Given the description of an element on the screen output the (x, y) to click on. 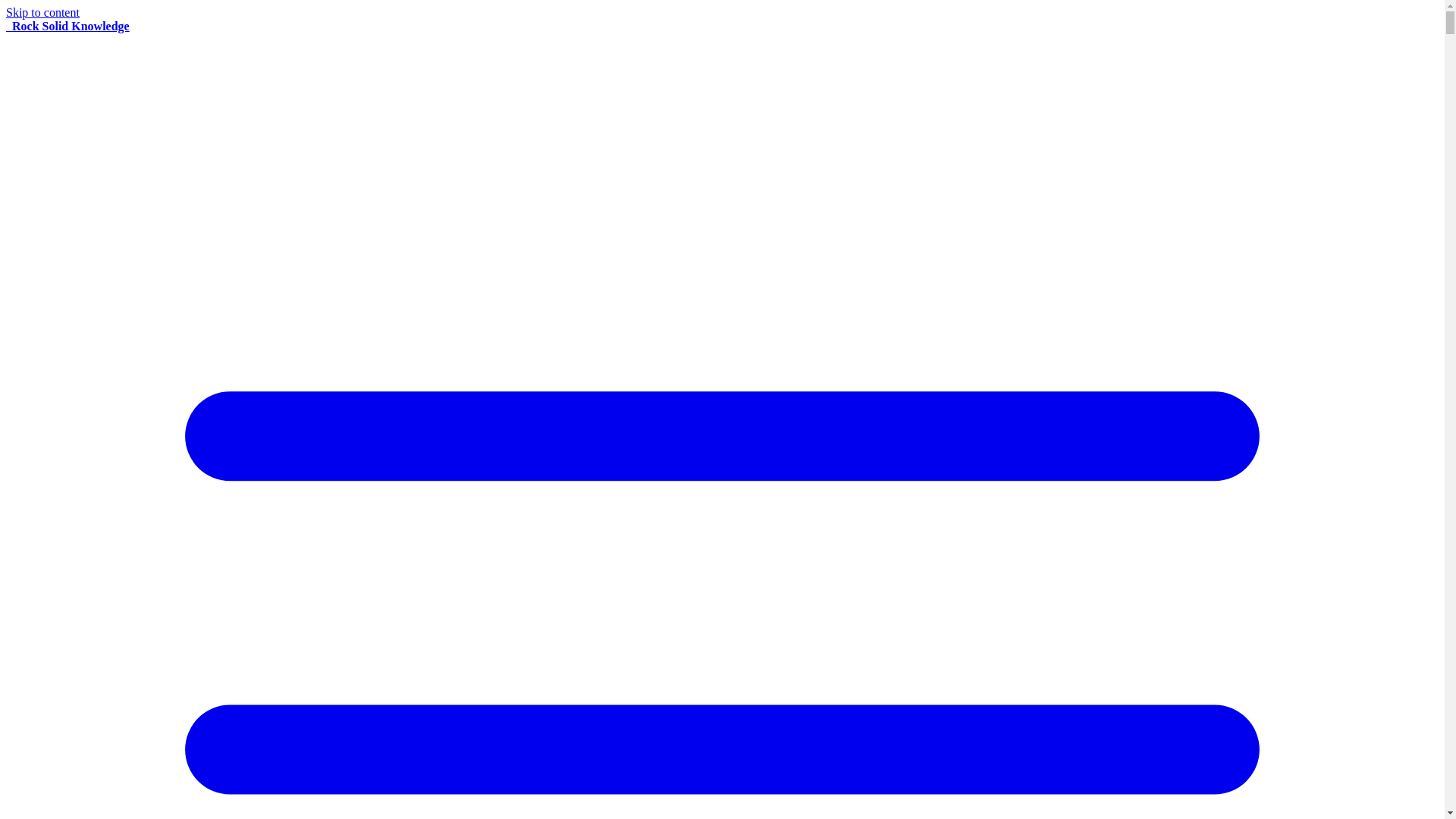
Rock Solid Knowledge (67, 25)
Skip to content (42, 11)
